Given the description of an element on the screen output the (x, y) to click on. 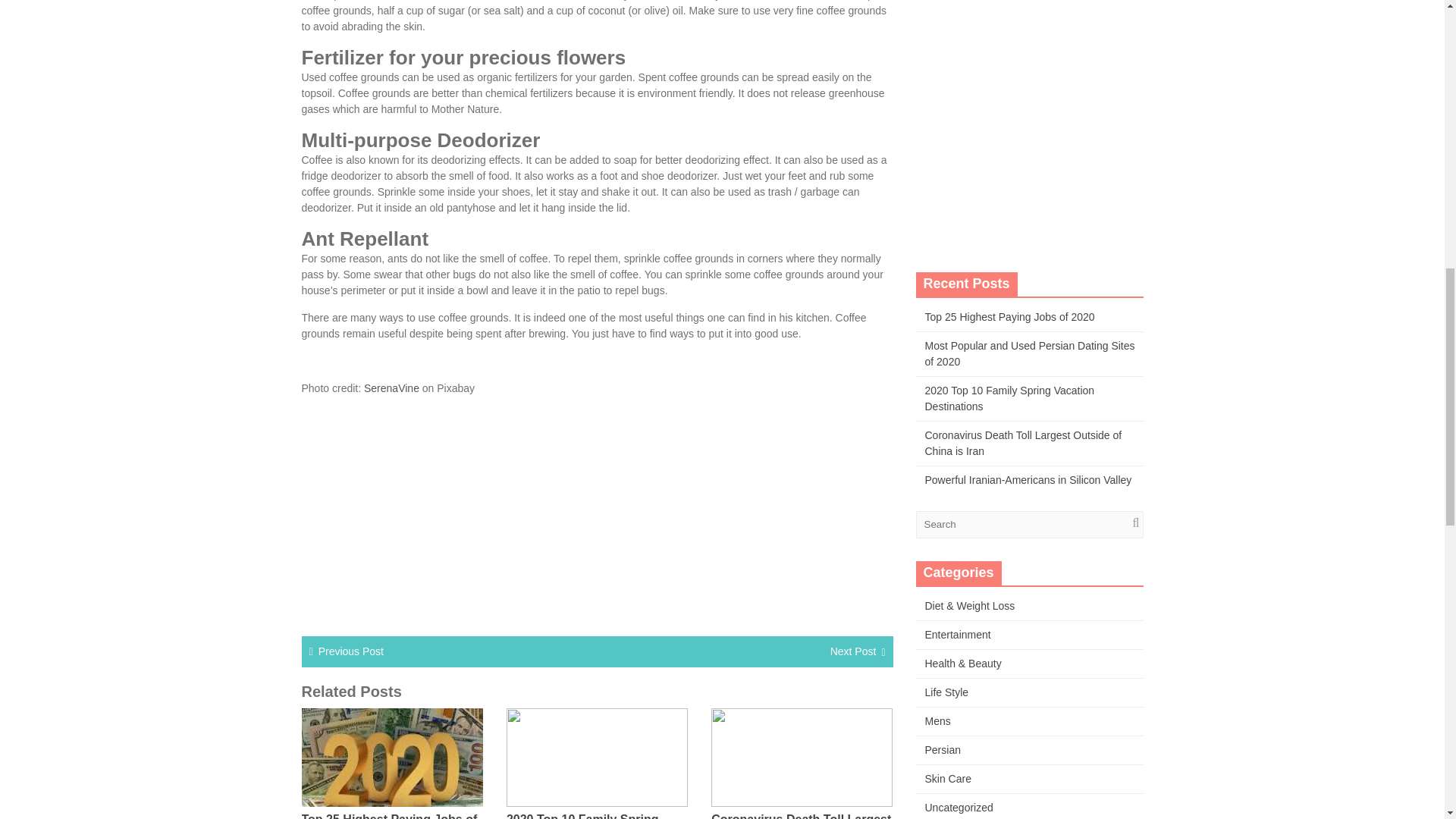
Top 25 Highest Paying Jobs of 2020 (389, 816)
SerenaVine (391, 387)
Coronavirus Death Toll Largest Outside of China is Iran... (801, 816)
2020 Top 10 Family Spring Vacation Destinations (1009, 398)
Top 25 Highest Paying Jobs of 2020 (1009, 316)
Advertisement (597, 513)
Most Popular and Used Persian Dating Sites of 2020 (1029, 353)
Next Post (852, 651)
Previous Post (351, 651)
2020 Top 10 Family Spring Vacation Destinations (582, 816)
